Given the description of an element on the screen output the (x, y) to click on. 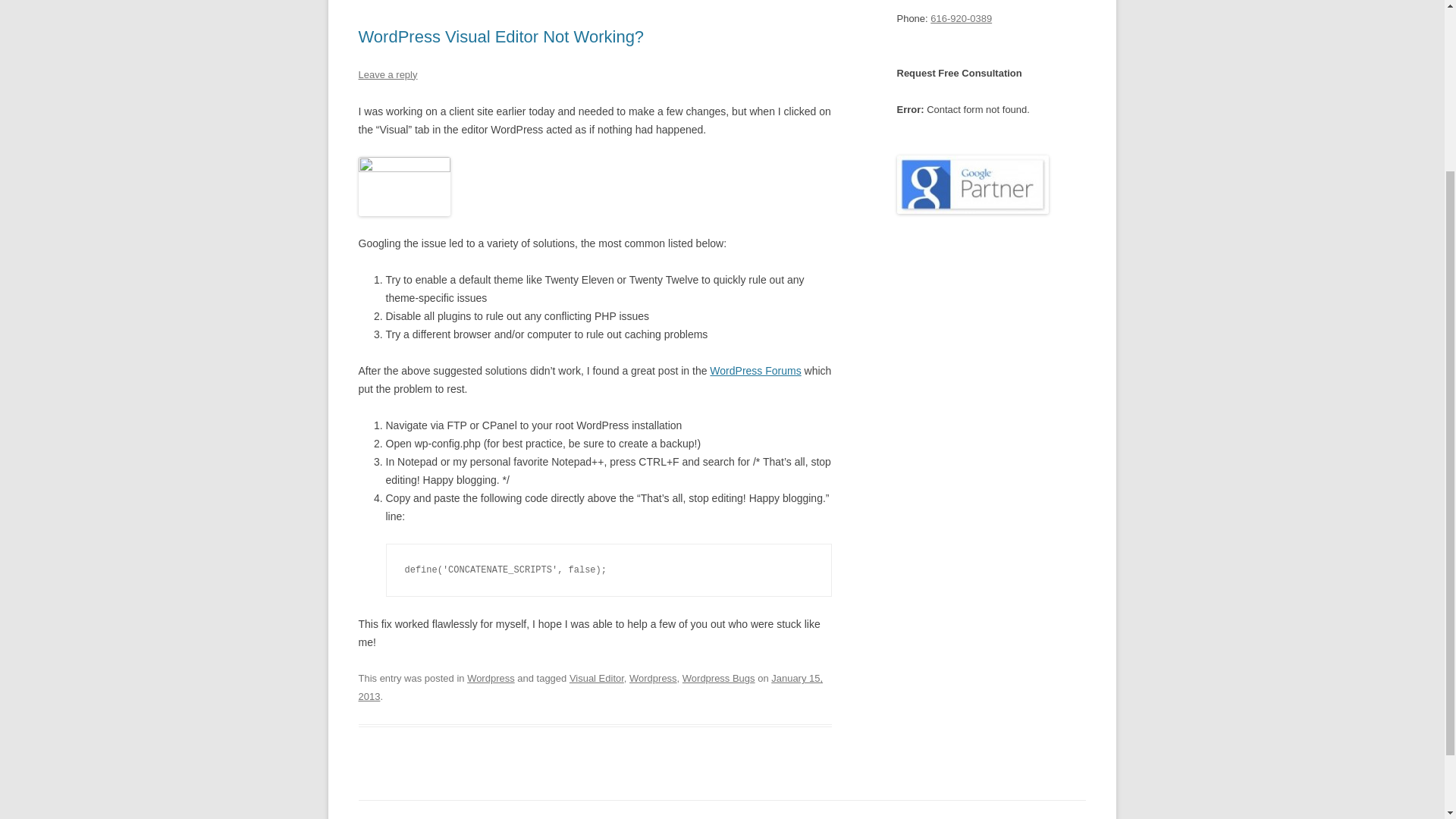
Wordpress Bugs (718, 677)
8:53 pm (590, 686)
WordPress Visual Editor Not Working? (500, 36)
Wordpress (652, 677)
Visual Editor (596, 677)
WordPress Forums (755, 370)
Wordpress (491, 677)
Leave a reply (387, 74)
616-920-0389 (960, 18)
January 15, 2013 (590, 686)
